Given the description of an element on the screen output the (x, y) to click on. 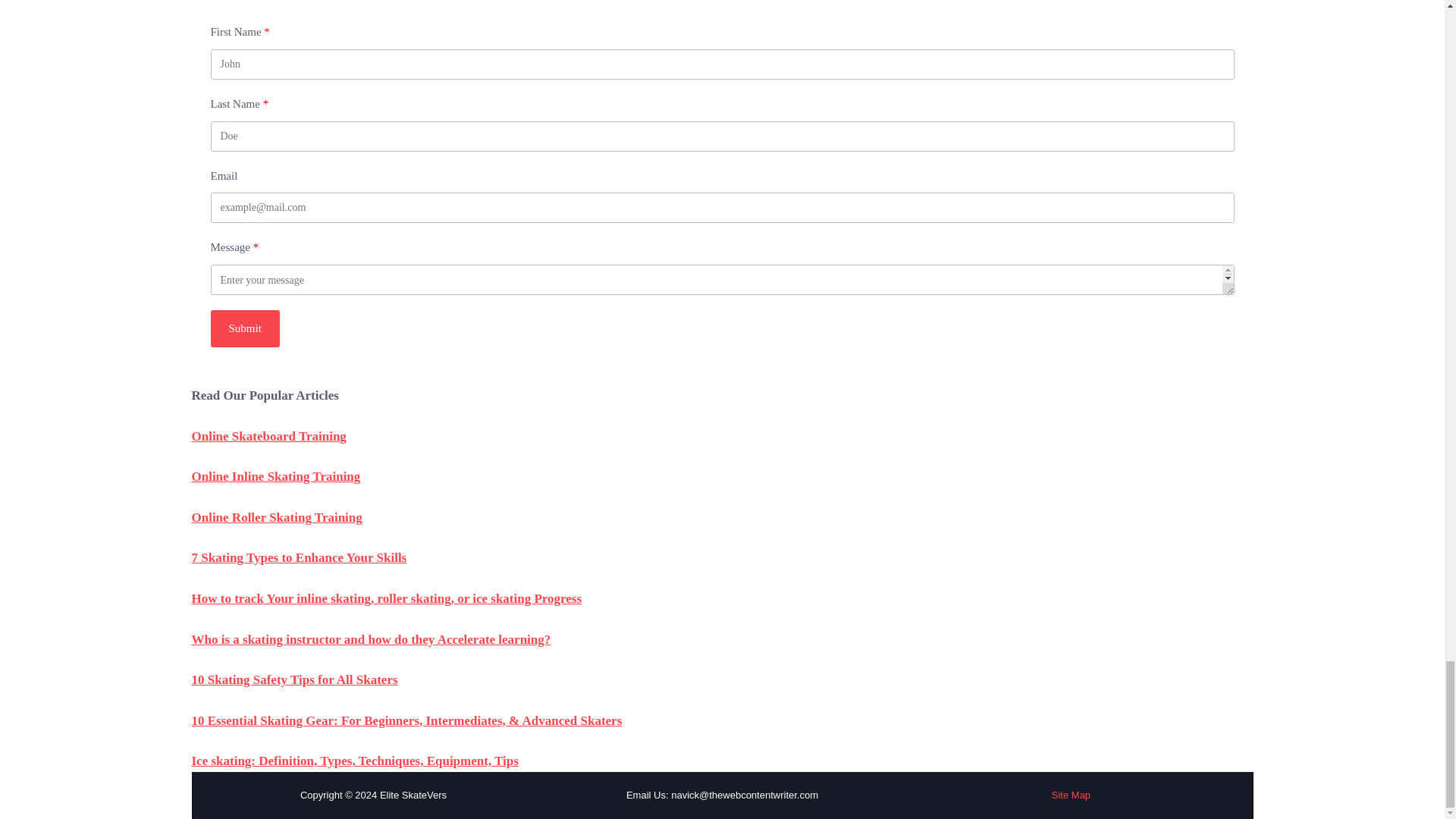
Online Roller Skating Training (275, 517)
10 Skating Safety Tips for All Skaters (293, 679)
Ice skating: Definition, Types, Techniques, Equipment, Tips (354, 760)
7 Skating Types to Enhance Your Skills (298, 557)
Submit (245, 328)
Online Inline Skating Training (274, 476)
Online Skateboard Training (268, 436)
Site Map (1070, 794)
